Given the description of an element on the screen output the (x, y) to click on. 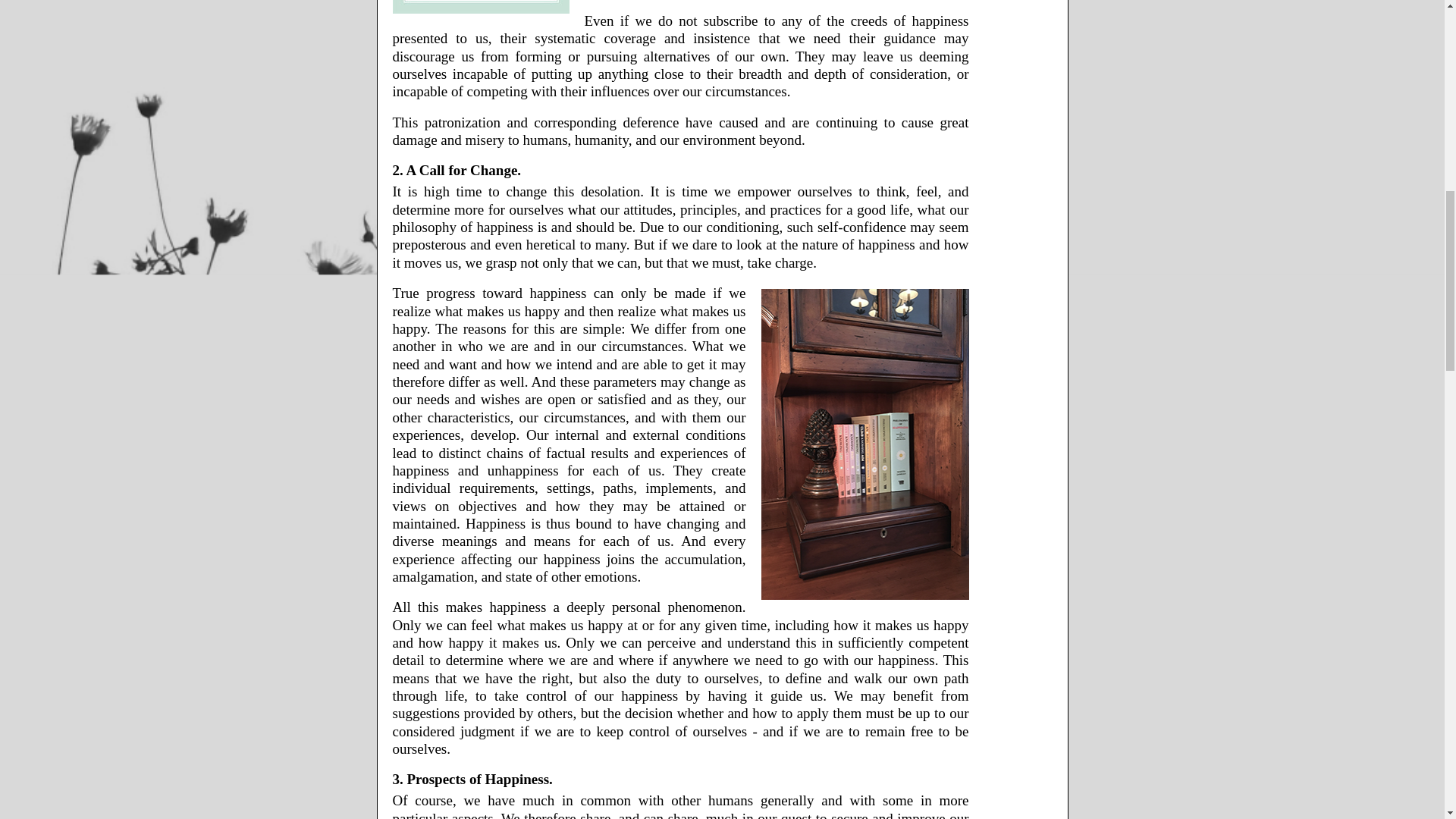
"Philosophy of Happiness" and "Knowing" Series Bookshelf (865, 444)
"Philosophy of Happiness" E-Book Plate (481, 6)
